Given the description of an element on the screen output the (x, y) to click on. 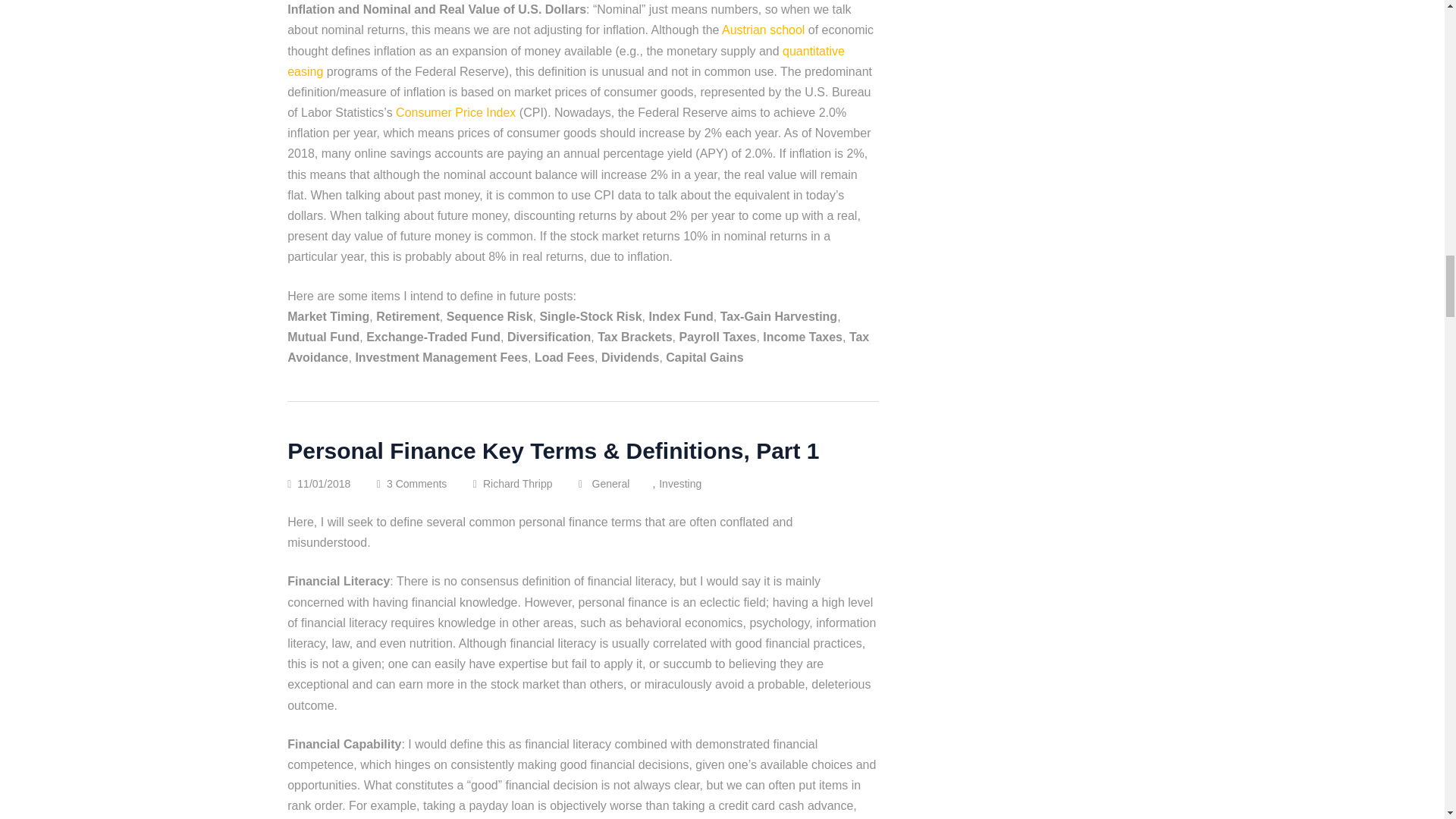
3 Comments (427, 483)
Richard Thripp (524, 483)
Consumer Price Index (455, 112)
Investing (691, 483)
General (621, 483)
quantitative easing (565, 61)
Austrian school (763, 29)
